Given the description of an element on the screen output the (x, y) to click on. 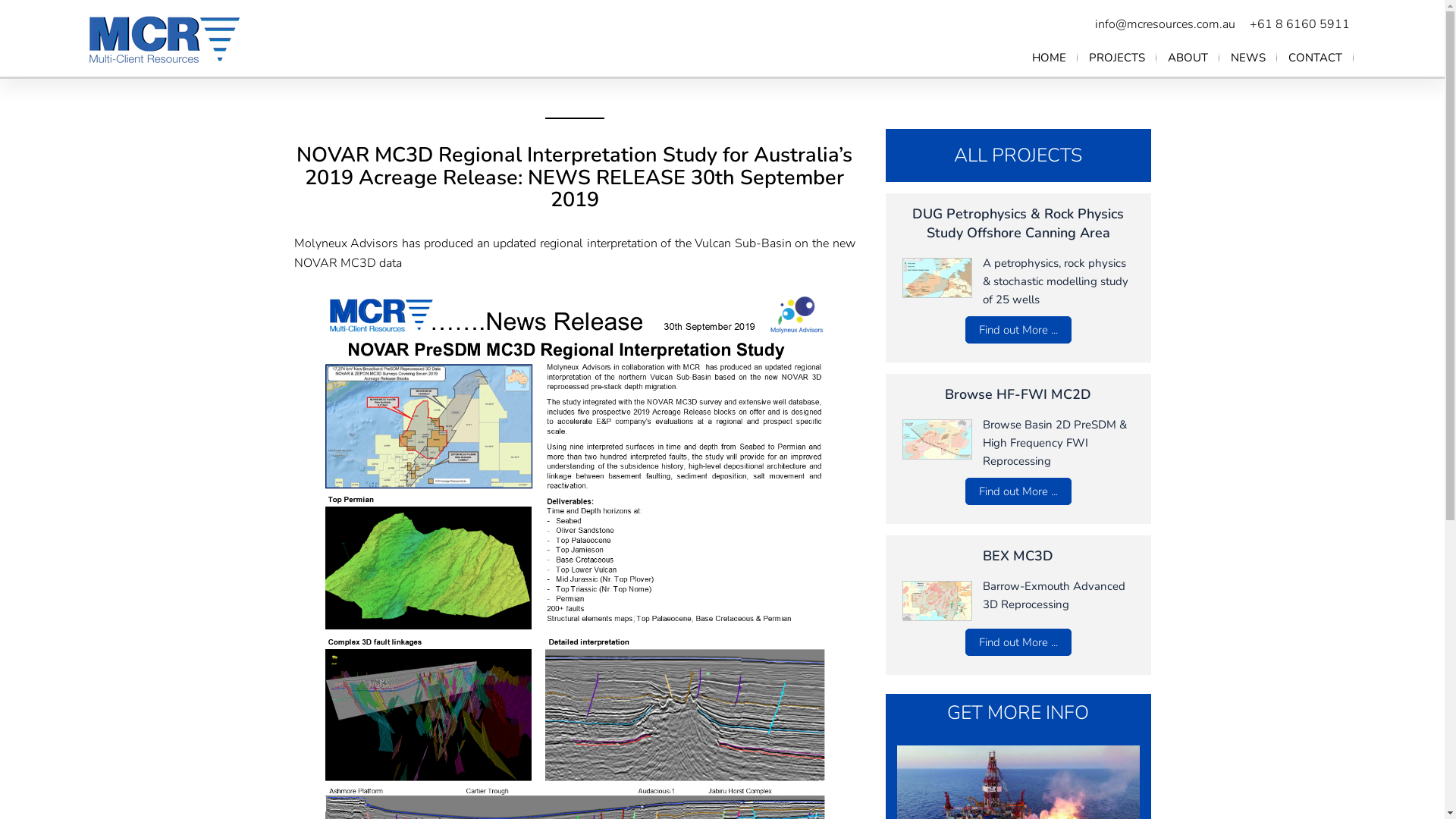
+61 8 6160 5911 Element type: text (1299, 23)
ABOUT Element type: text (1187, 57)
PROJECTS Element type: text (1116, 57)
CONTACT Element type: text (1315, 57)
HOME Element type: text (1048, 57)
NEWS Element type: text (1248, 57)
info@mcresources.com.au Element type: text (1165, 23)
